Given the description of an element on the screen output the (x, y) to click on. 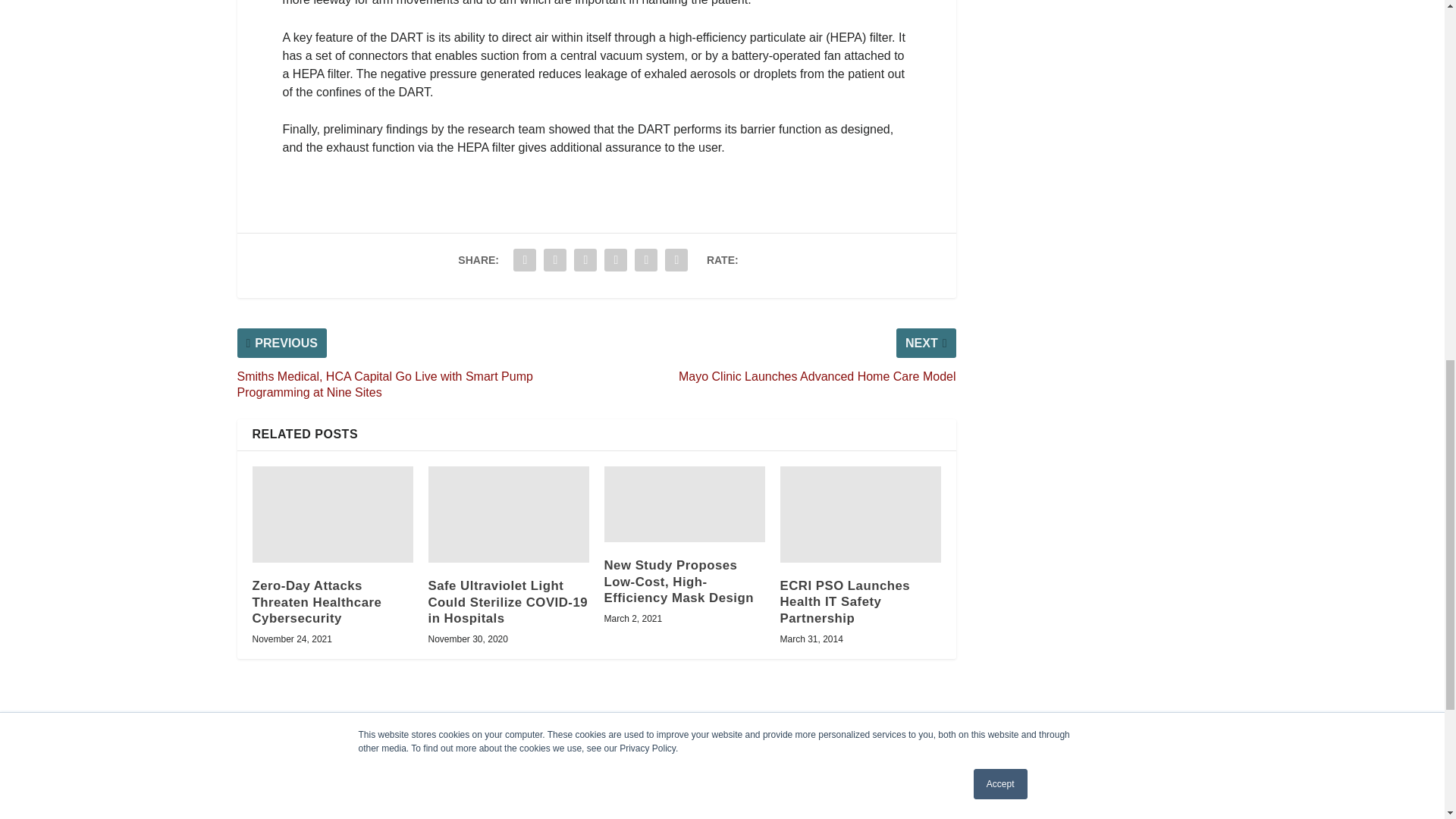
Zero-Day Attacks Threaten Healthcare Cybersecurity (331, 514)
Safe Ultraviolet Light Could Sterilize COVID-19 in Hospitals (508, 514)
ECRI PSO Launches Health IT Safety Partnership (859, 514)
New Study Proposes Low-Cost, High-Efficiency Mask Design (684, 504)
